Given the description of an element on the screen output the (x, y) to click on. 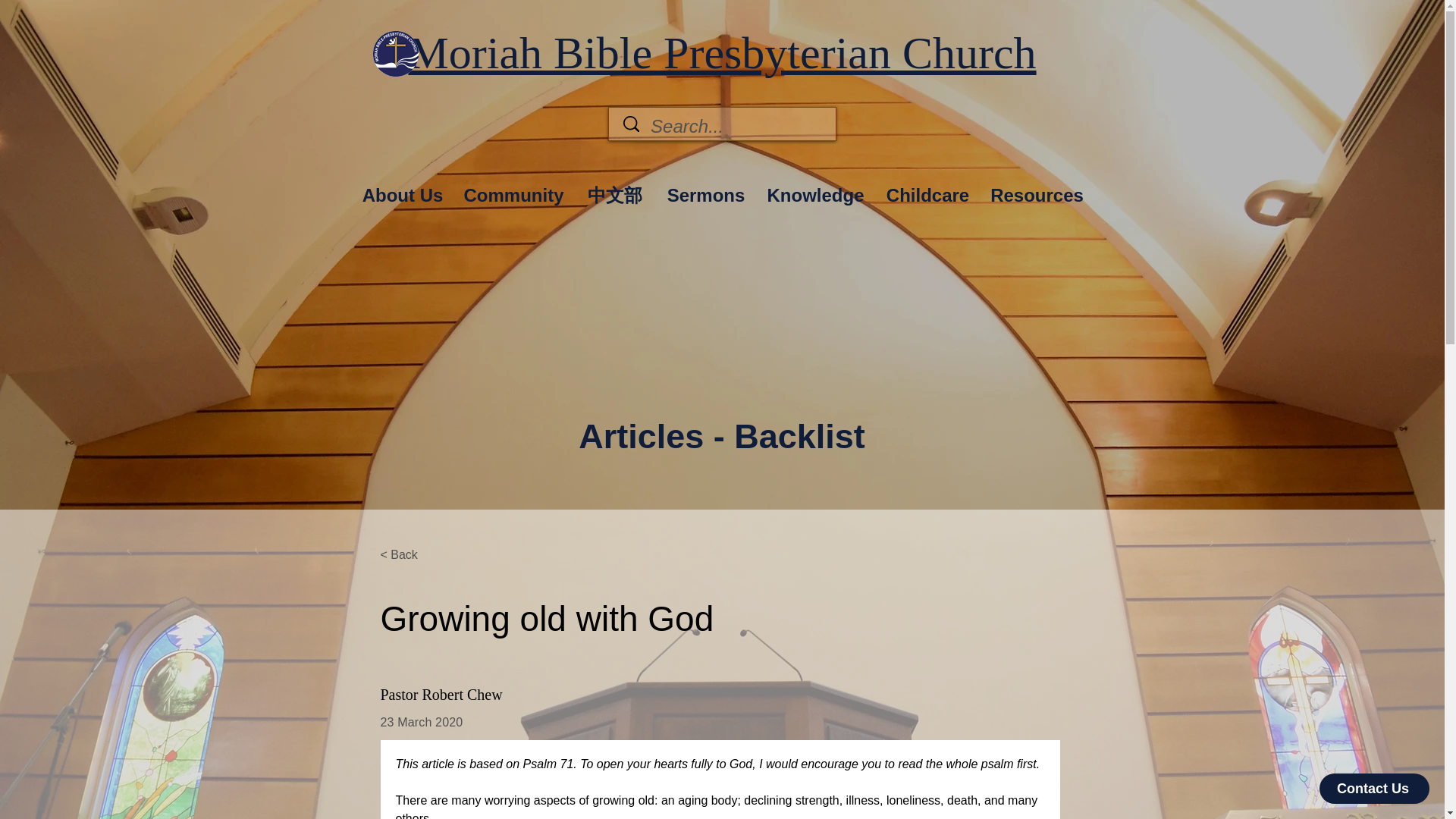
Sermons (705, 188)
Childcare (927, 188)
Contact Us (1374, 788)
Moriah Bible Presbyterian Church (721, 52)
